Given the description of an element on the screen output the (x, y) to click on. 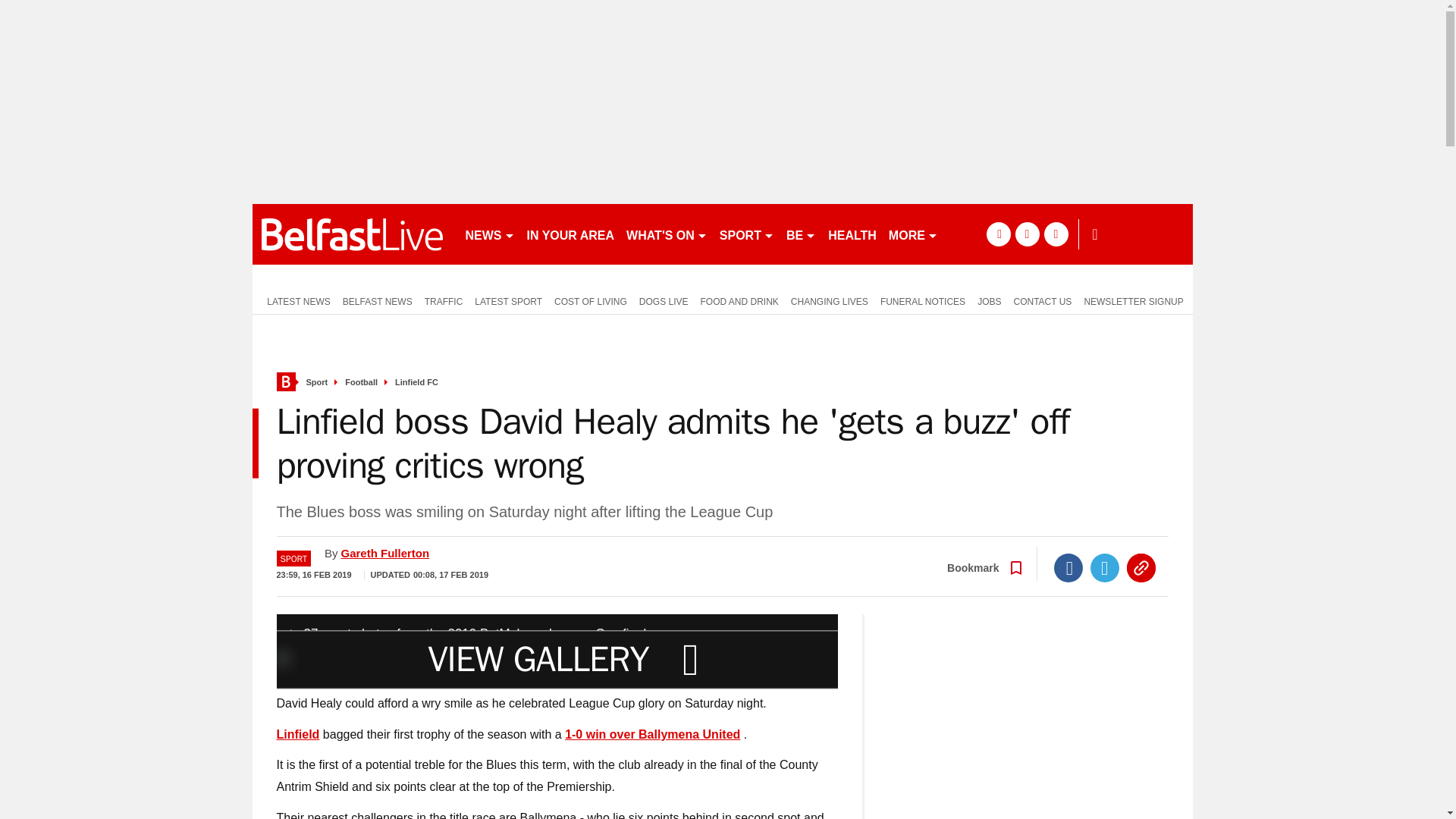
instagram (1055, 233)
belfastlive (351, 233)
IN YOUR AREA (569, 233)
twitter (1026, 233)
SPORT (746, 233)
Twitter (1104, 567)
facebook (997, 233)
WHAT'S ON (666, 233)
Facebook (1068, 567)
NEWS (490, 233)
